Given the description of an element on the screen output the (x, y) to click on. 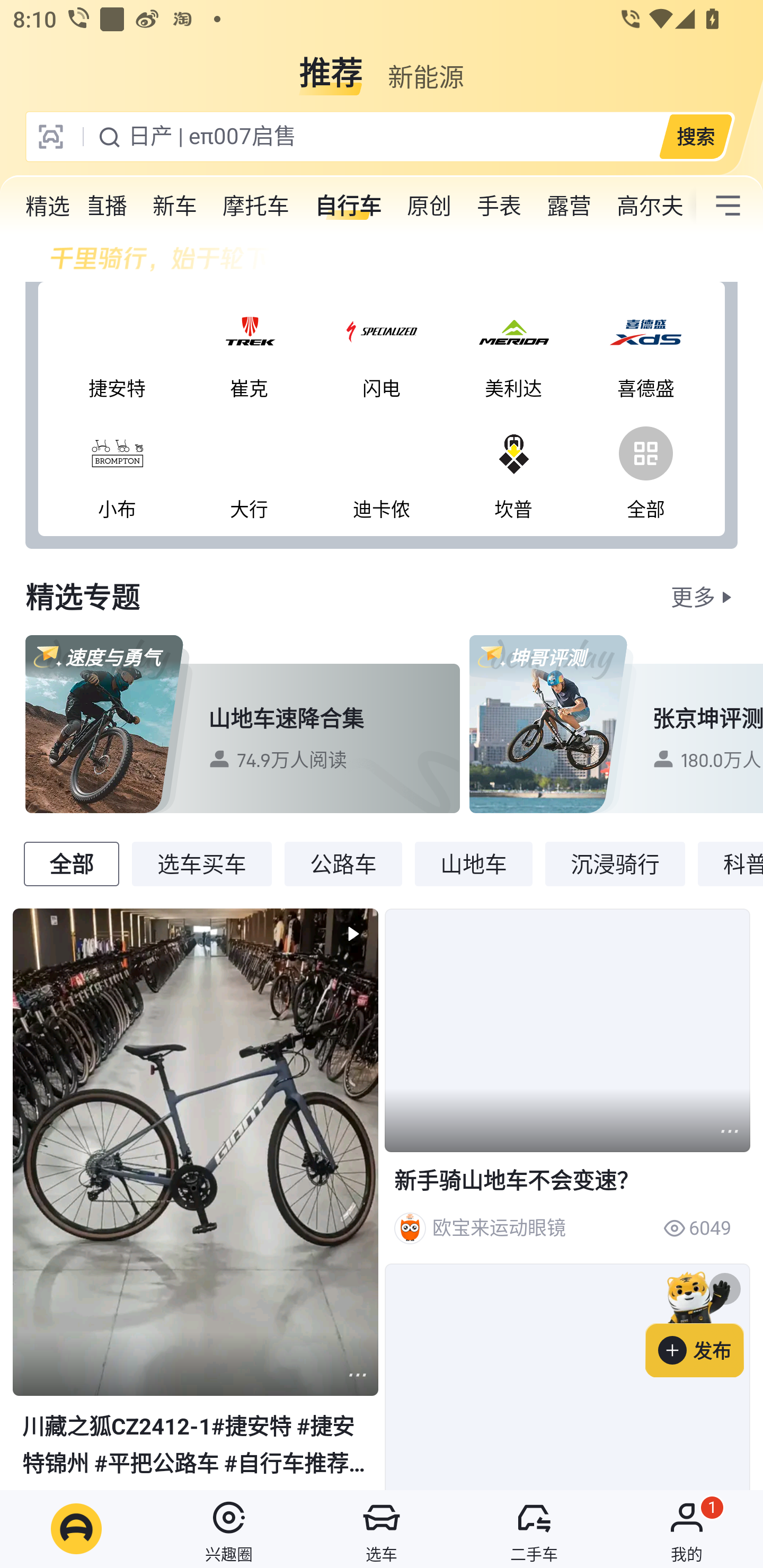
推荐 (330, 65)
新能源 (425, 65)
搜索 (695, 136)
直播 (93, 205)
新车 (174, 205)
摩托车 (255, 205)
自行车 (348, 205)
原创 (428, 205)
手表 (498, 205)
露营 (569, 205)
高尔夫 (649, 205)
 (727, 205)
精选 (47, 206)
捷安特 (117, 348)
崔克 (249, 348)
闪电 (381, 348)
美利达 (513, 348)
喜德盛 (645, 348)
小布 (117, 469)
大行 (249, 469)
迪卡侬 (381, 469)
坎普 (513, 469)
全部 (645, 469)
更多  (703, 596)
速度与勇气 山地车速降合集  74.9万人阅读 (242, 724)
坤哥评测 张京坤评测自行车  180.0万人阅读 (616, 724)
全部 (71, 863)
选车买车 (201, 863)
公路车 (343, 863)
山地车 (473, 863)
沉浸骑行 (615, 863)
科普教学 (730, 863)
  川藏之狐CZ2412-1#捷安特 #捷安特锦州 #平把公路车 #自行车推荐 #爱生活爱骑行 (195, 1198)
 新手骑山地车不会变速？ 欧宝来运动眼镜 < >6049 (567, 1082)
 (729, 1132)
发布 (704, 1320)
 (357, 1375)
 兴趣圈 (228, 1528)
 选车 (381, 1528)
 二手车 (533, 1528)
 我的 (686, 1528)
